Given the description of an element on the screen output the (x, y) to click on. 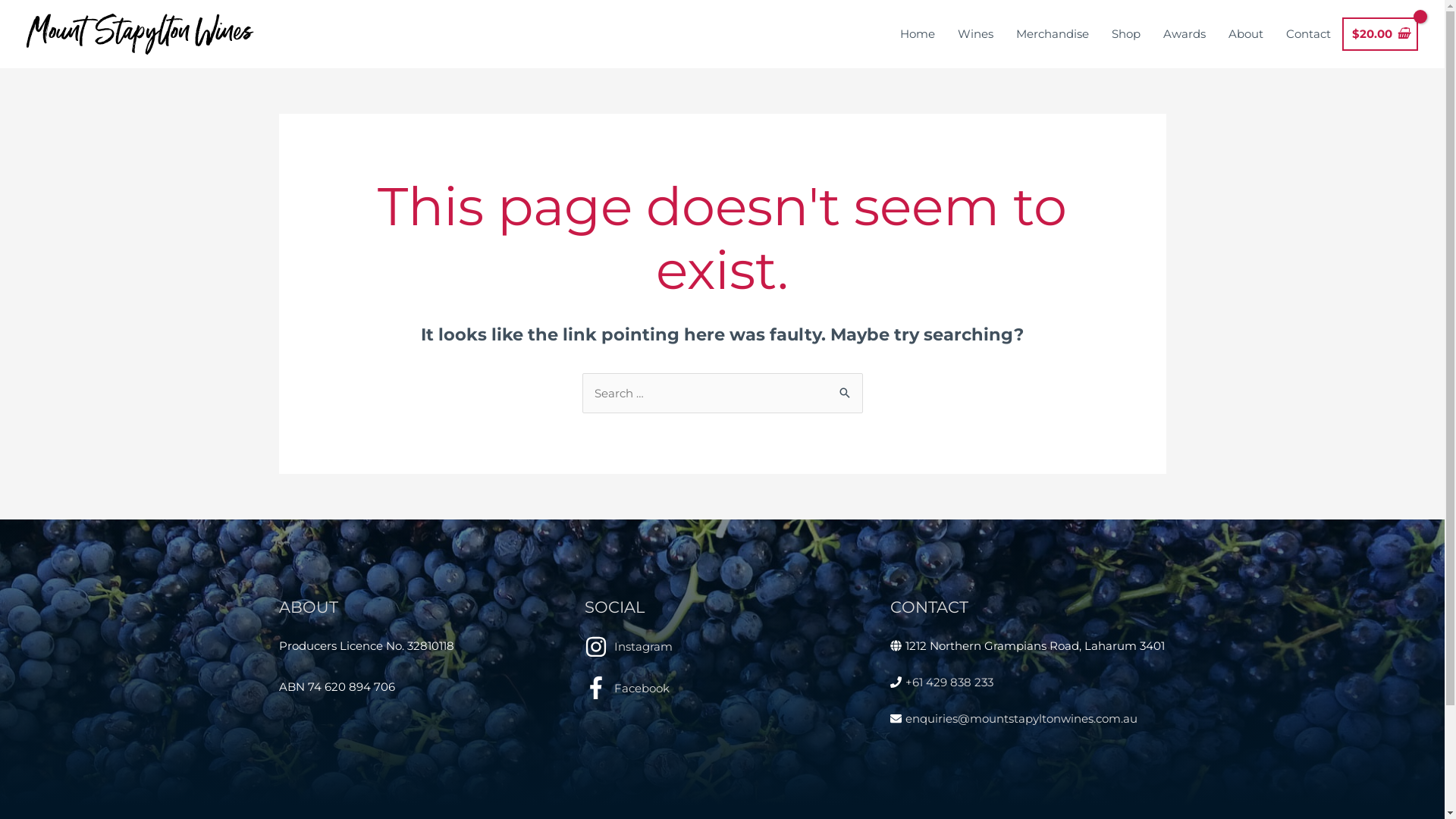
Shop Element type: text (1125, 33)
Facebook Element type: text (721, 687)
Merchandise Element type: text (1052, 33)
Instagram Element type: text (721, 654)
enquiries@mountstapyltonwines.com.au Element type: text (1021, 718)
Wines Element type: text (975, 33)
+61 429 838 233 Element type: text (949, 681)
About Element type: text (1245, 33)
$20.00 Element type: text (1380, 34)
Awards Element type: text (1184, 33)
Contact Element type: text (1308, 33)
Search Element type: text (845, 388)
Home Element type: text (917, 33)
